Given the description of an element on the screen output the (x, y) to click on. 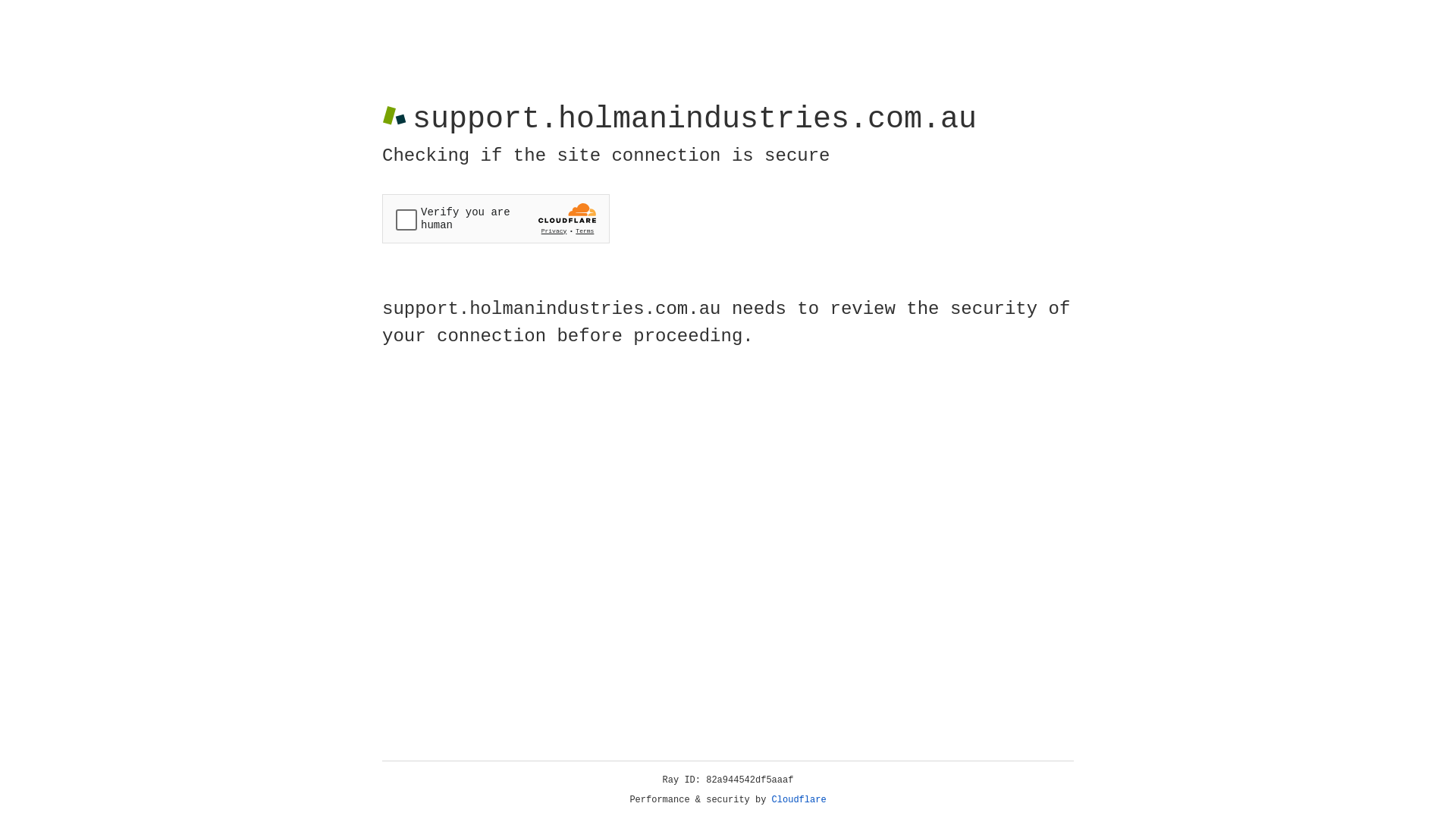
Cloudflare Element type: text (798, 799)
Widget containing a Cloudflare security challenge Element type: hover (495, 218)
